Given the description of an element on the screen output the (x, y) to click on. 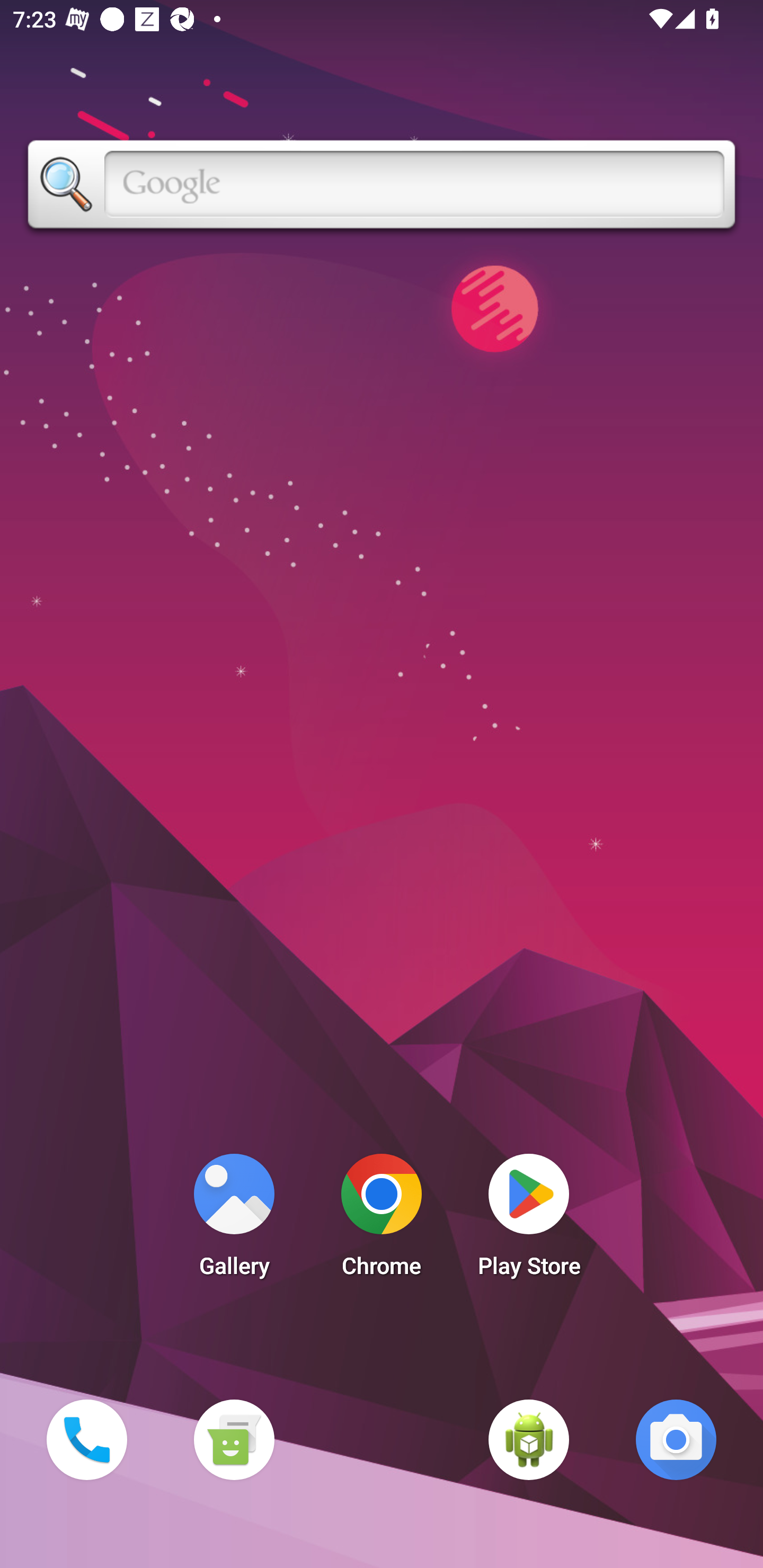
Gallery (233, 1220)
Chrome (381, 1220)
Play Store (528, 1220)
Phone (86, 1439)
Messaging (233, 1439)
WebView Browser Tester (528, 1439)
Camera (676, 1439)
